Given the description of an element on the screen output the (x, y) to click on. 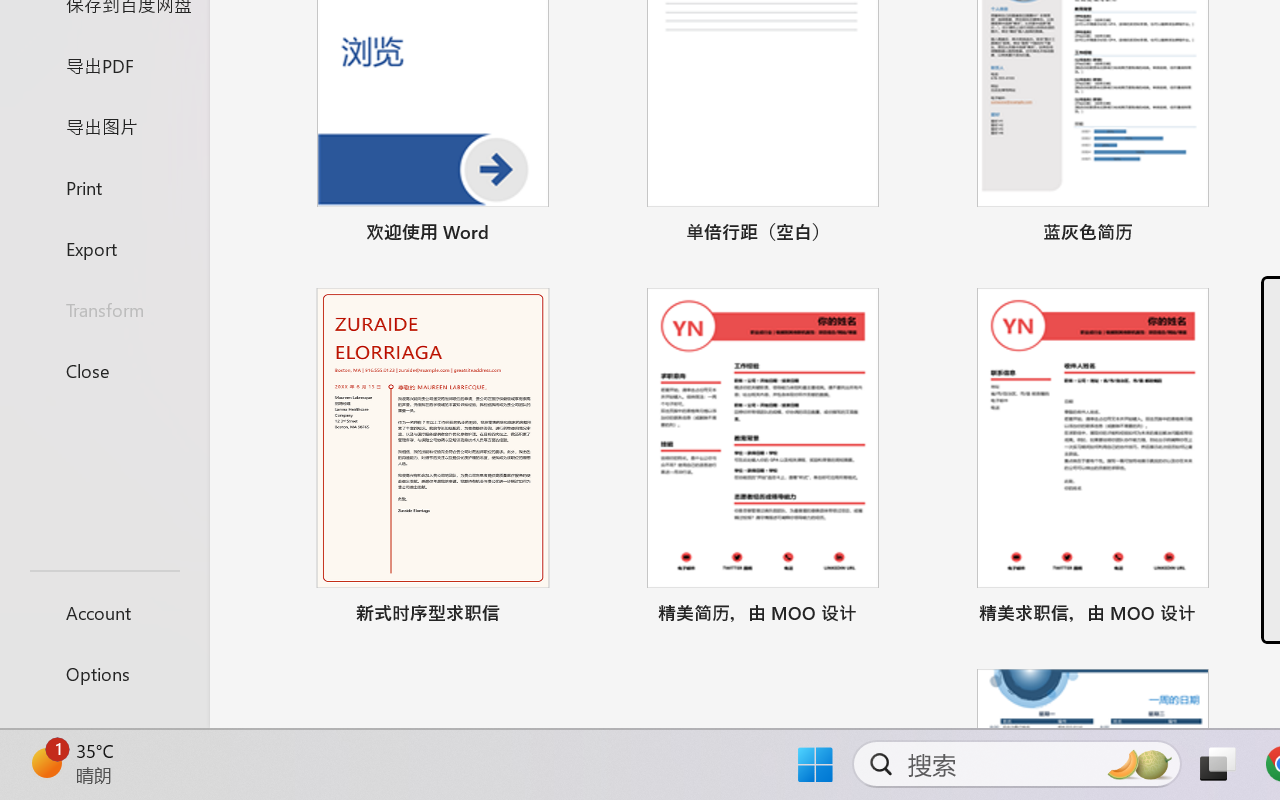
Account (104, 612)
